Given the description of an element on the screen output the (x, y) to click on. 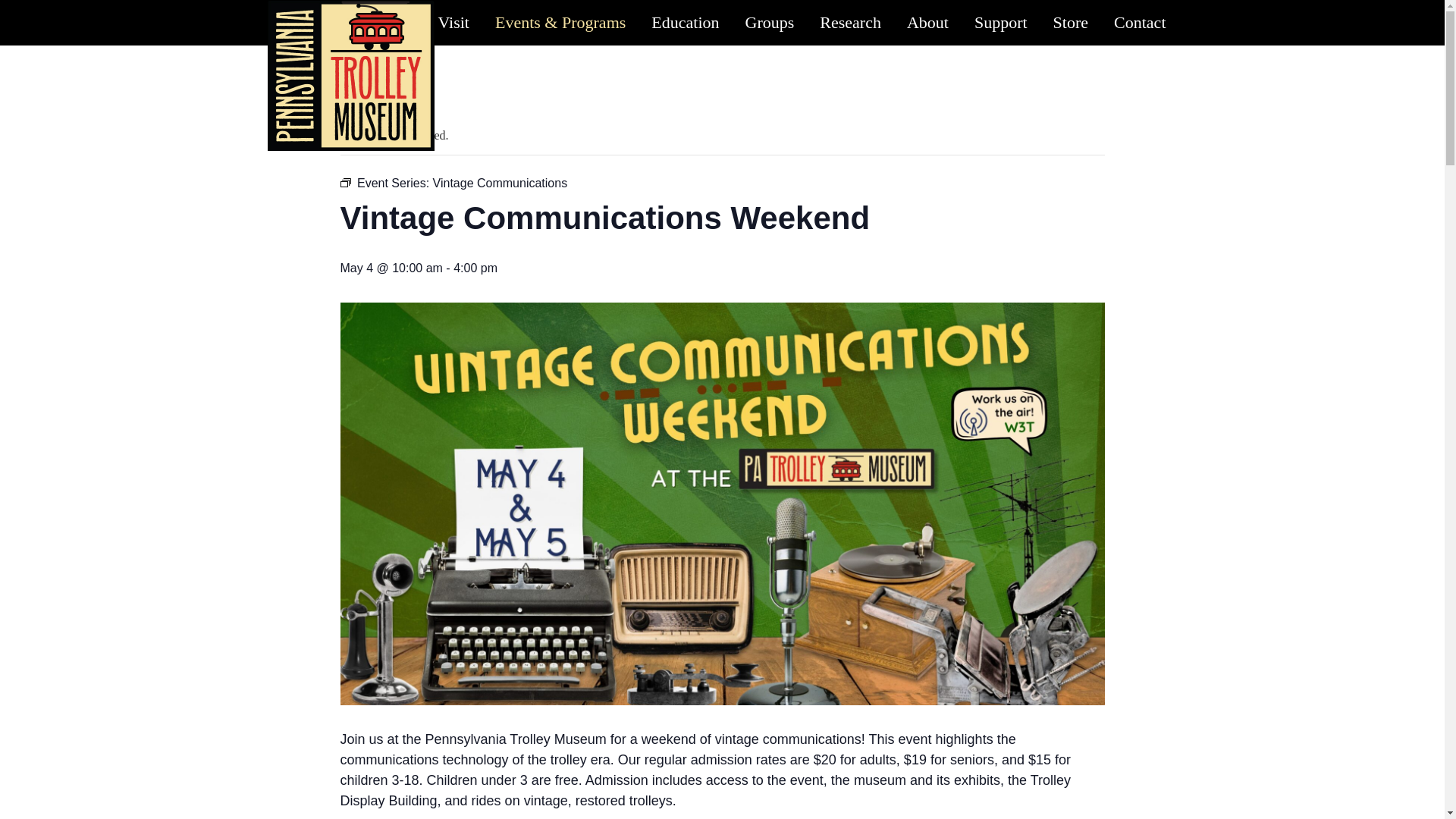
Support (1000, 22)
Education (685, 22)
Store (1070, 22)
About (927, 22)
Groups (769, 22)
Vintage Communications (499, 182)
Event Series (344, 182)
Visit (453, 22)
Research (850, 22)
Contact (1139, 22)
Homepage Link - Logo (349, 75)
Event Series: (344, 183)
